Given the description of an element on the screen output the (x, y) to click on. 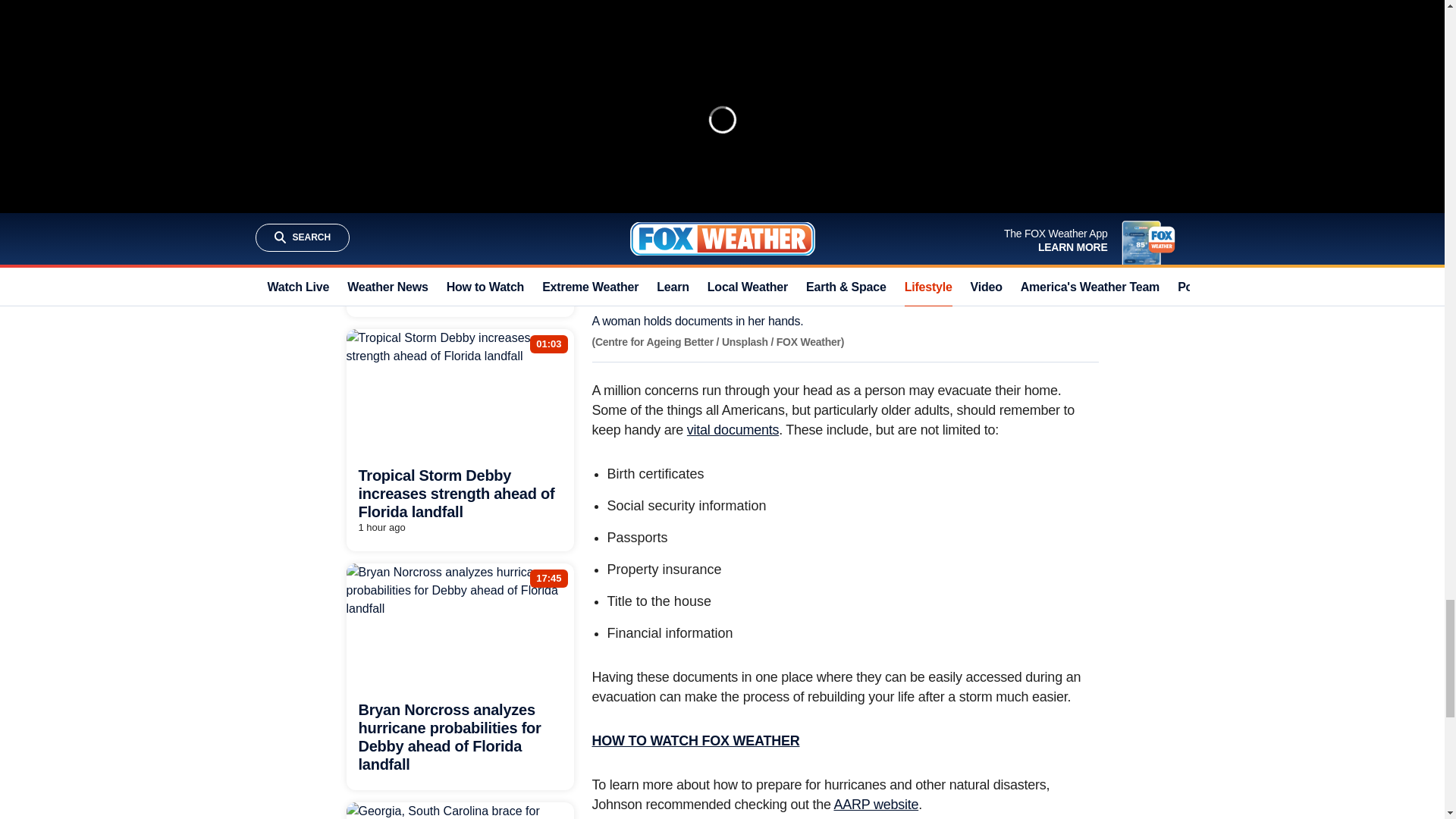
HOW TO WATCH FOX WEATHER (695, 740)
AARP website (875, 804)
vital documents (732, 429)
